Given the description of an element on the screen output the (x, y) to click on. 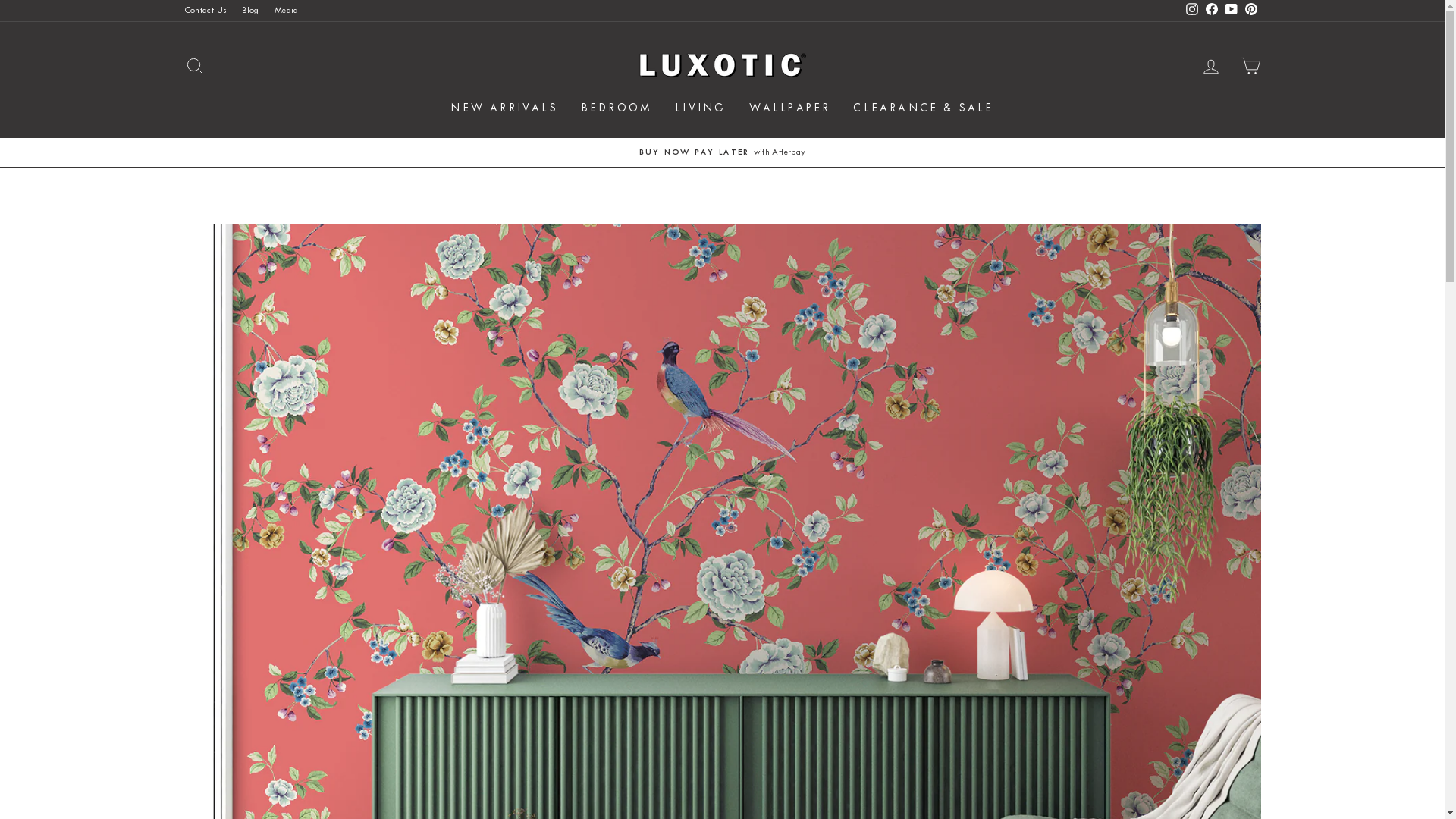
Instagram Element type: text (1191, 10)
SEARCH Element type: text (193, 65)
NEW ARRIVALS Element type: text (503, 108)
Facebook Element type: text (1210, 10)
CART Element type: text (1249, 65)
Skip to content Element type: text (0, 0)
Media Element type: text (286, 10)
Pinterest Element type: text (1250, 10)
LIVING Element type: text (700, 108)
YouTube Element type: text (1230, 10)
WALLPAPER Element type: text (789, 108)
CLEARANCE & SALE Element type: text (922, 108)
Blog Element type: text (250, 10)
BEDROOM Element type: text (616, 108)
LOG IN Element type: text (1210, 65)
Contact Us Element type: text (204, 10)
